Given the description of an element on the screen output the (x, y) to click on. 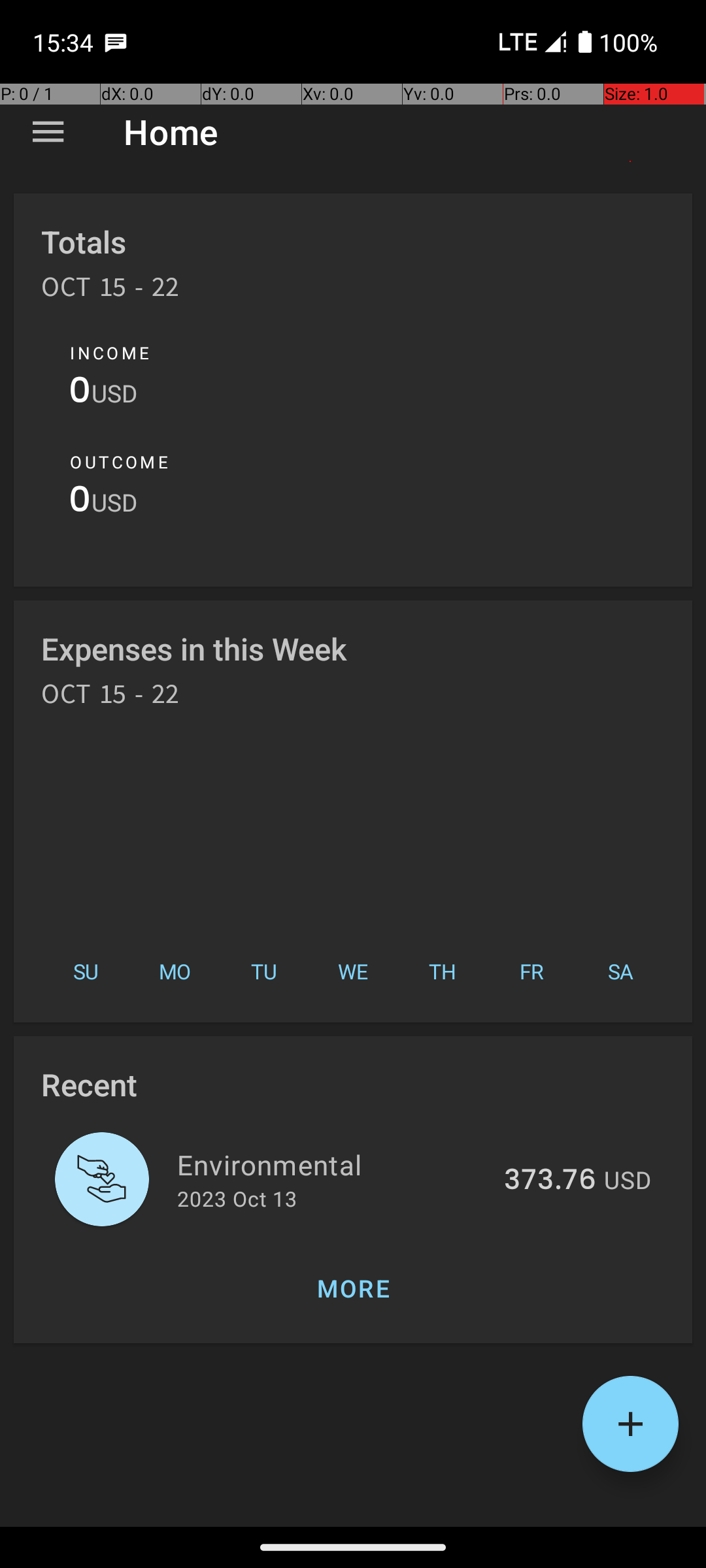
Environmental Element type: android.widget.TextView (332, 1164)
373.76 Element type: android.widget.TextView (549, 1180)
